Given the description of an element on the screen output the (x, y) to click on. 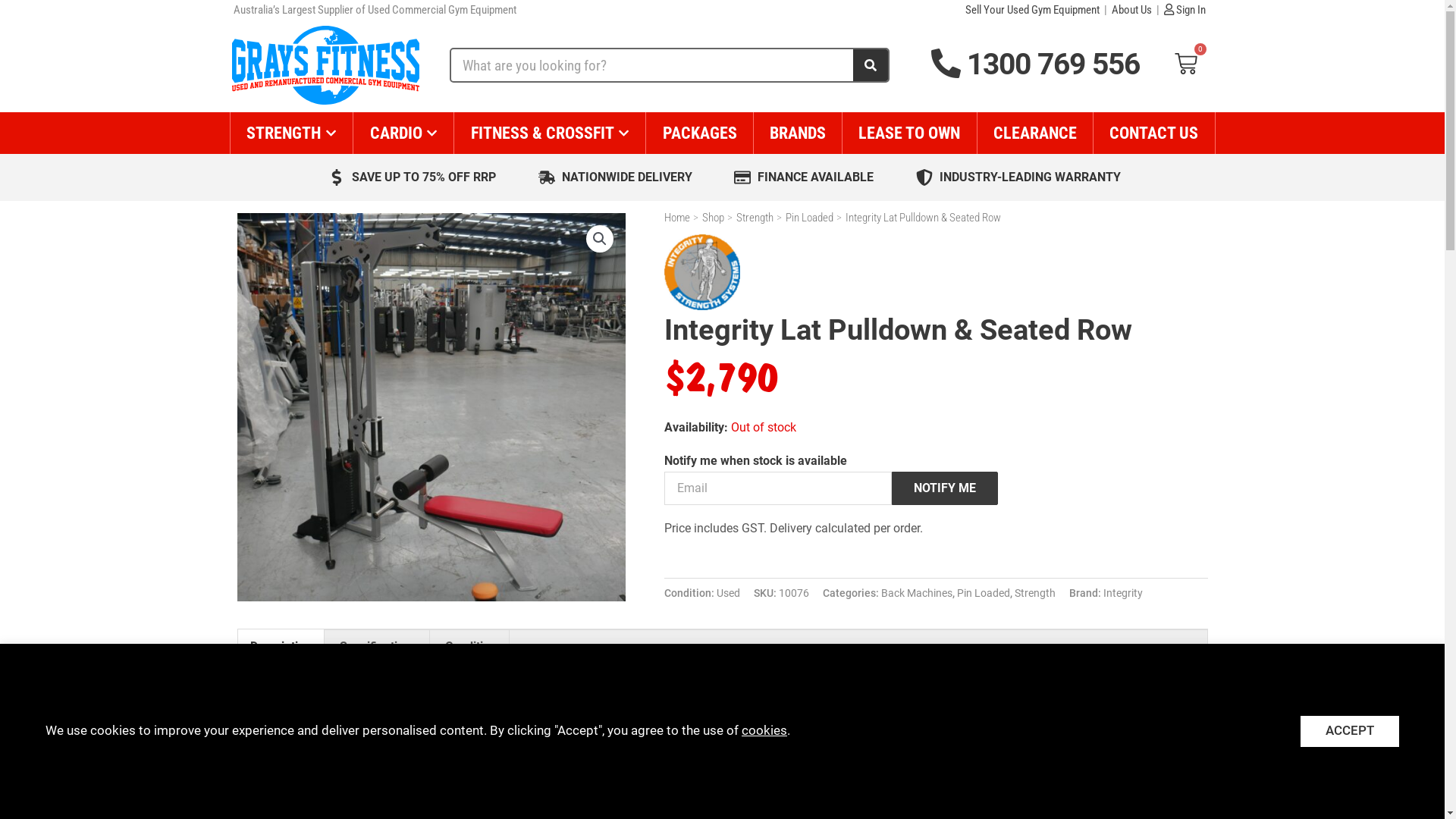
Search Element type: text (869, 65)
PACKAGES Element type: text (699, 132)
cookies Element type: text (764, 730)
Integrity-Lat- Pulldown Element type: hover (430, 407)
CLEARANCE Element type: text (1034, 132)
Home Element type: text (677, 217)
CONTACT US Element type: text (1153, 132)
Back Machines Element type: text (916, 592)
LEASE TO OWN Element type: text (908, 132)
FITNESS & CROSSFIT Element type: text (549, 132)
Strength Element type: text (754, 217)
Strength Element type: text (1034, 592)
NATIONWIDE DELIVERY Element type: text (612, 177)
Shop Element type: text (713, 217)
Specifications Element type: text (378, 646)
Grays Fitness Element type: hover (325, 64)
About Us Element type: text (1131, 9)
Description Element type: text (280, 646)
BRANDS Element type: text (797, 132)
STRENGTH Element type: text (291, 132)
CARDIO Element type: text (403, 132)
NOTIFY ME Element type: text (944, 488)
Sell Your Used Gym Equipment Element type: text (1031, 9)
FINANCE AVAILABLE Element type: text (801, 177)
Pin Loaded Element type: text (983, 592)
Sign In Element type: text (1183, 9)
Condition Element type: text (470, 646)
Pin Loaded Element type: text (809, 217)
Integrity Element type: text (1122, 592)
INDUSTRY-LEADING WARRANTY Element type: text (1015, 177)
SAVE UP TO 75% OFF RRP Element type: text (410, 177)
ACCEPT Element type: text (1349, 730)
0
Cart Element type: text (1185, 65)
1300 769 556 Element type: text (1035, 64)
